Given the description of an element on the screen output the (x, y) to click on. 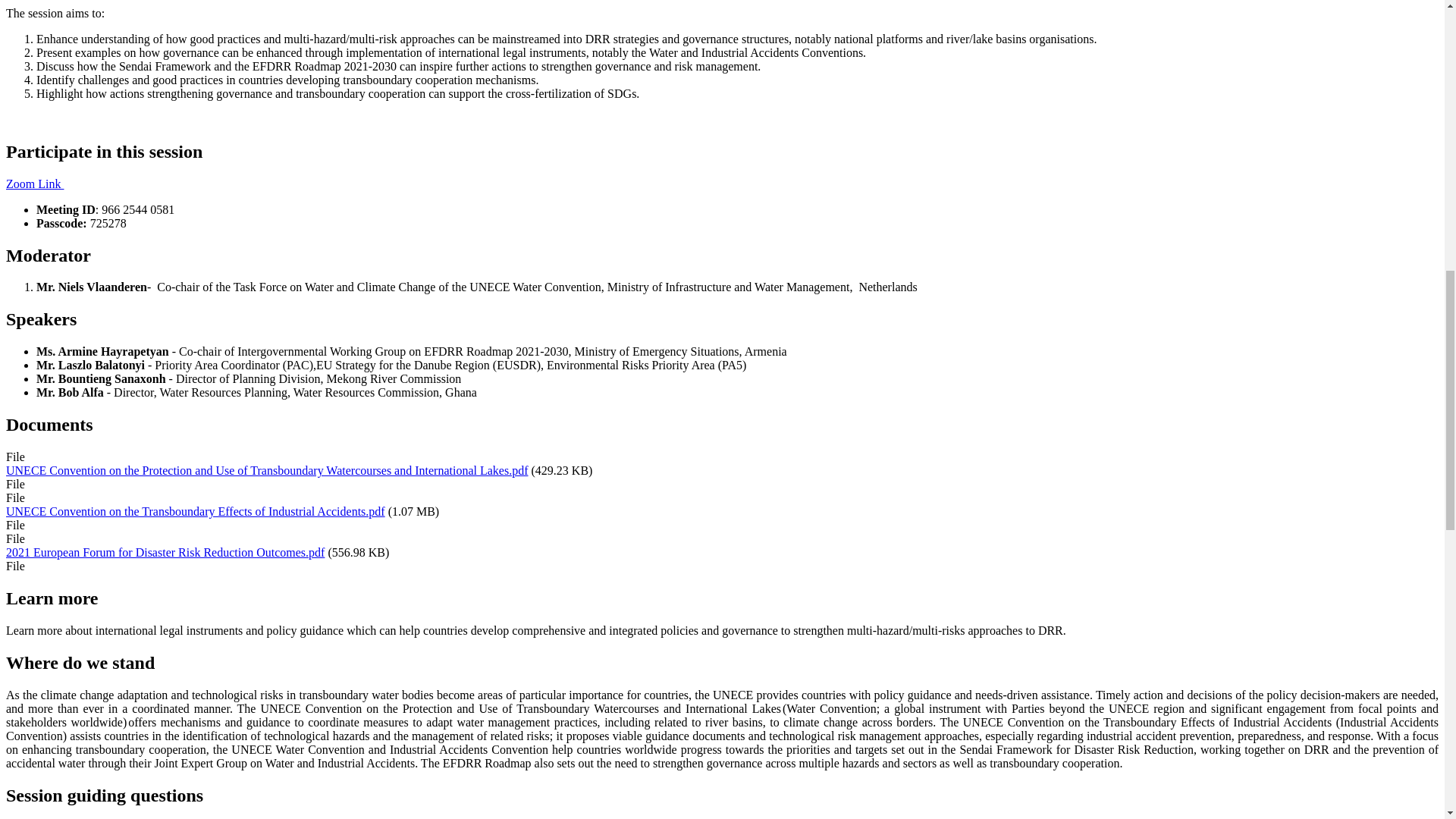
Zoom Link  (34, 183)
2021 European Forum for Disaster Risk Reduction Outcomes.pdf (164, 552)
